Given the description of an element on the screen output the (x, y) to click on. 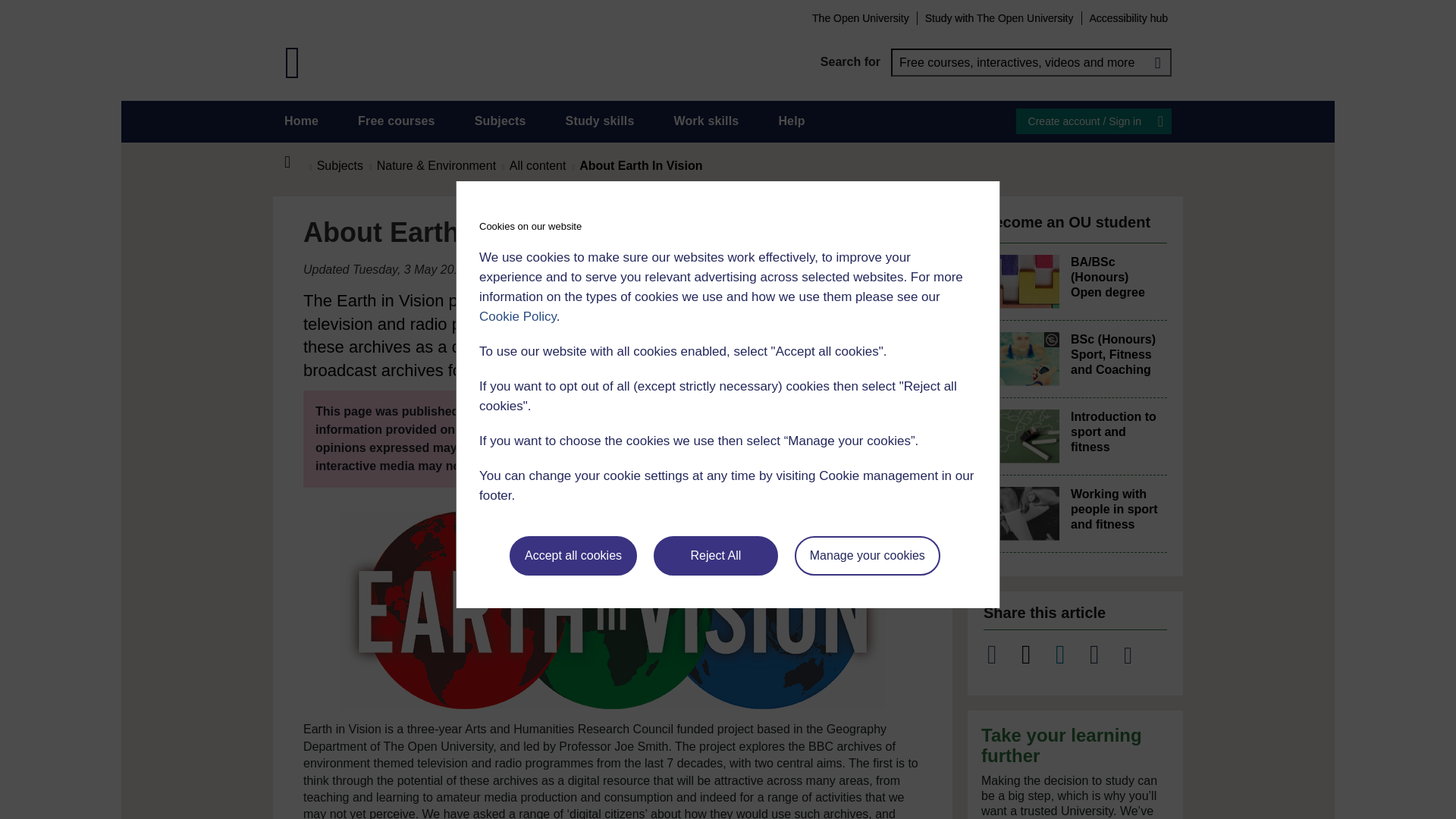
Manage your cookies (867, 555)
Free courses (396, 120)
Cookie Policy (517, 316)
Home (300, 120)
Accept all cookies (573, 555)
Reject All (715, 555)
Work skills (705, 120)
Search (1157, 62)
Accessibility hub (1129, 17)
Help (791, 120)
Subjects (499, 120)
Study with The Open University (999, 17)
Study skills (600, 120)
The Open University (860, 17)
Home (295, 162)
